Given the description of an element on the screen output the (x, y) to click on. 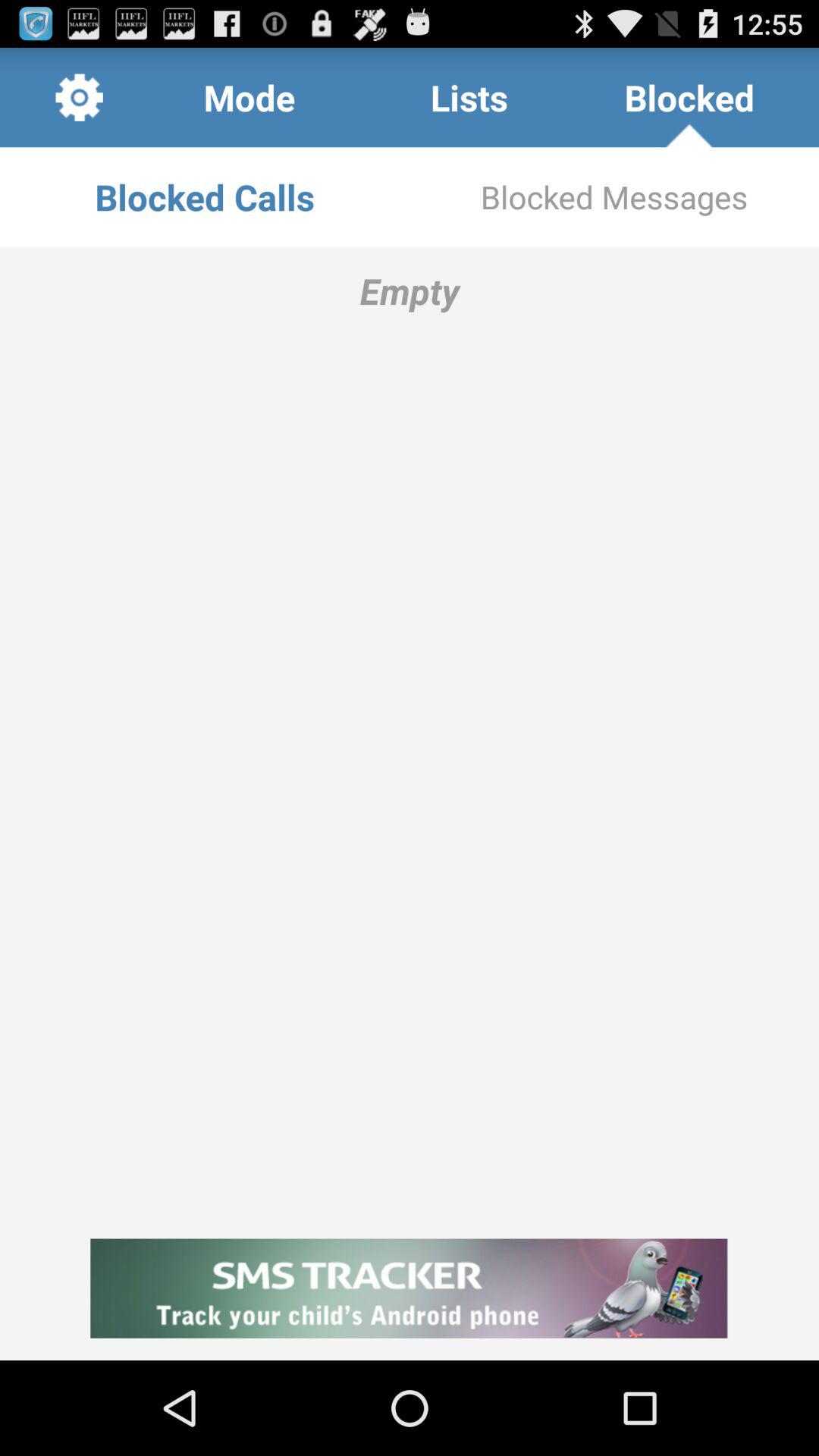
select item to the left of the blocked messages app (204, 196)
